Given the description of an element on the screen output the (x, y) to click on. 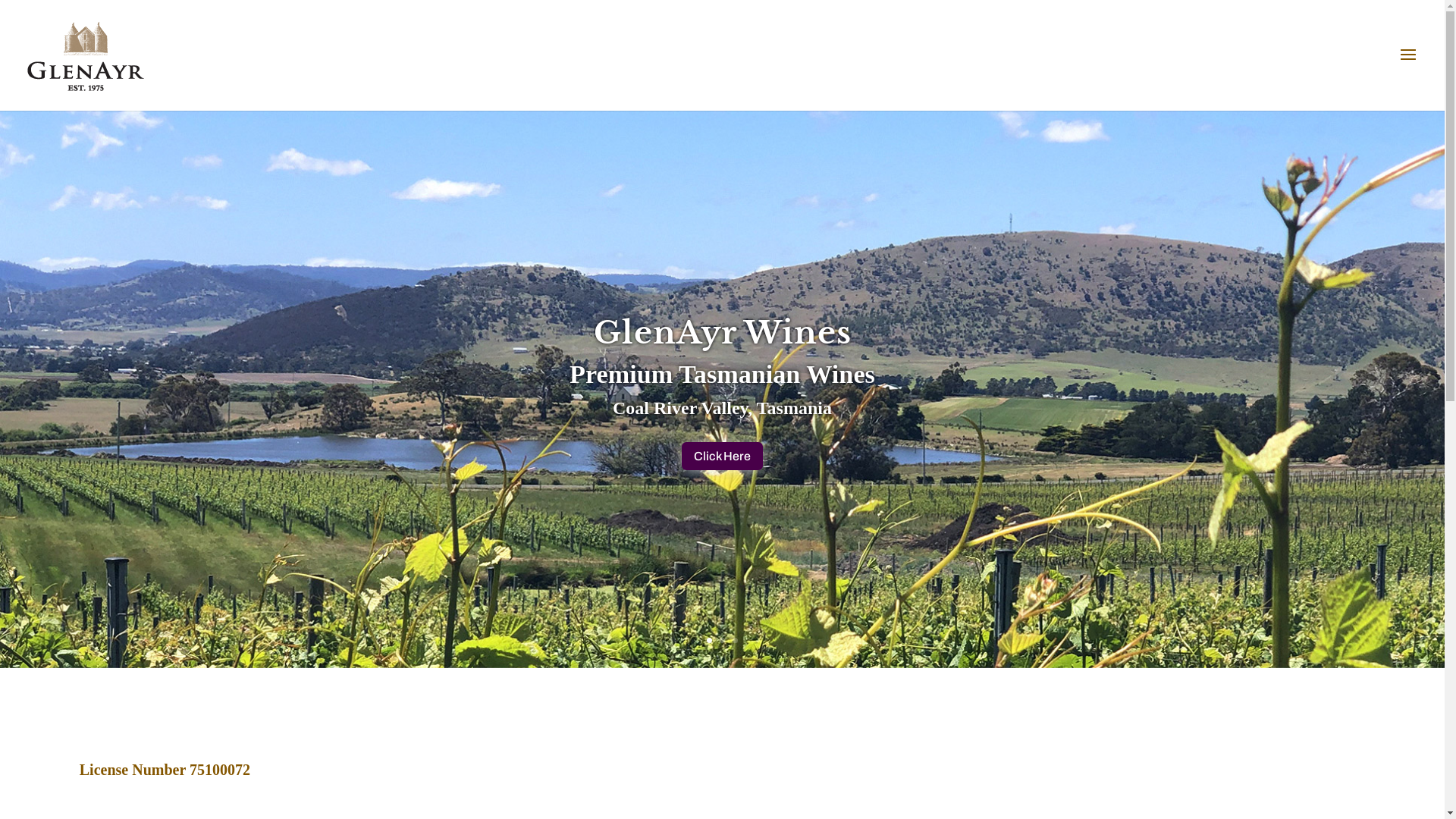
1 Element type: text (709, 640)
Click Here Element type: text (721, 456)
2 Element type: text (721, 640)
GlenAyr Wines Element type: text (721, 332)
3 Element type: text (734, 640)
